Given the description of an element on the screen output the (x, y) to click on. 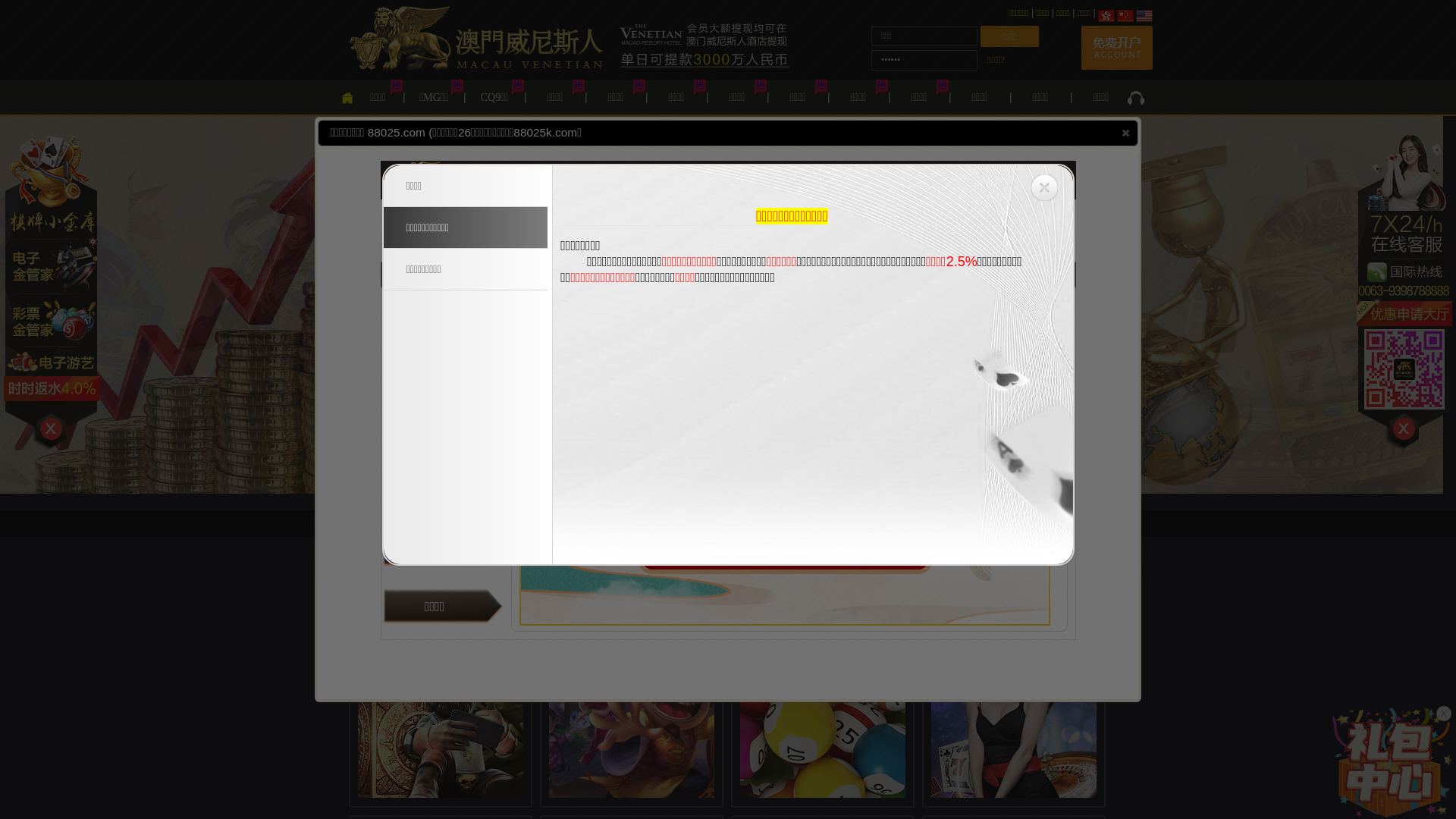
X Element type: text (1443, 713)
close Element type: text (1125, 132)
